Given the description of an element on the screen output the (x, y) to click on. 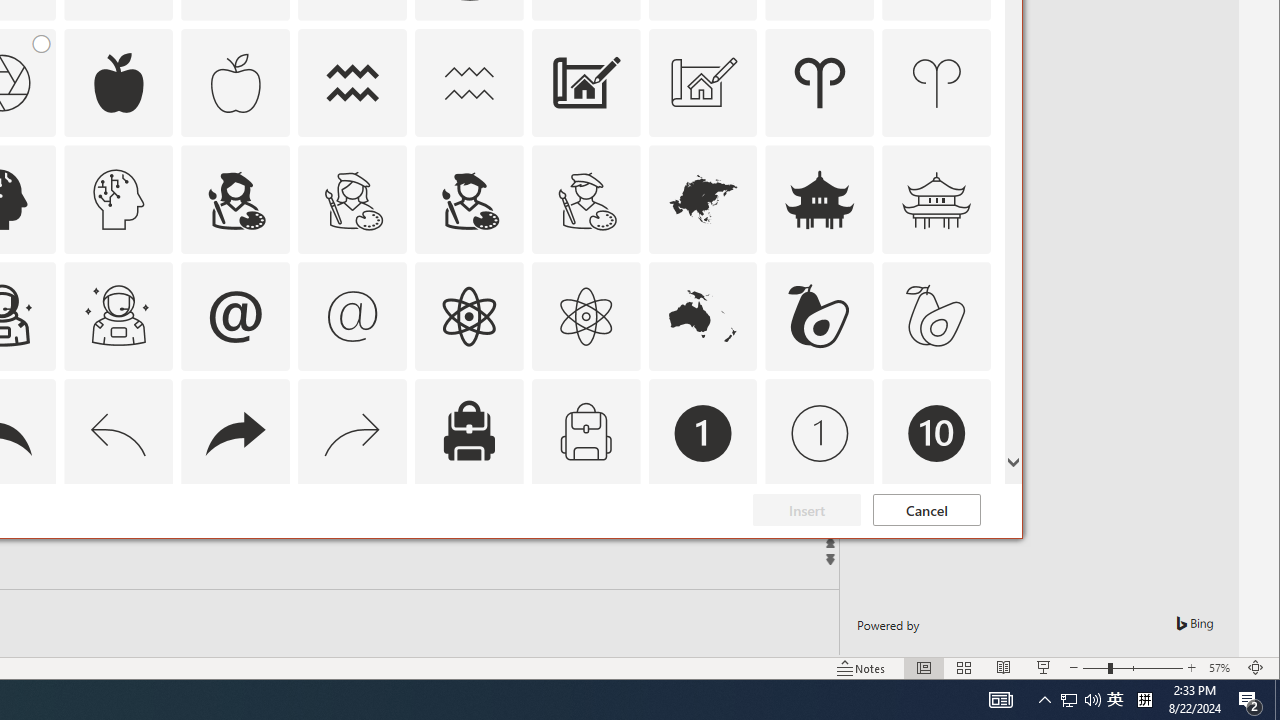
Thumbnail (975, 511)
AutomationID: Icons_Apple_M (235, 82)
AutomationID: Icons_Aries (819, 82)
AutomationID: Icons_AsianTemple_M (936, 200)
